Given the description of an element on the screen output the (x, y) to click on. 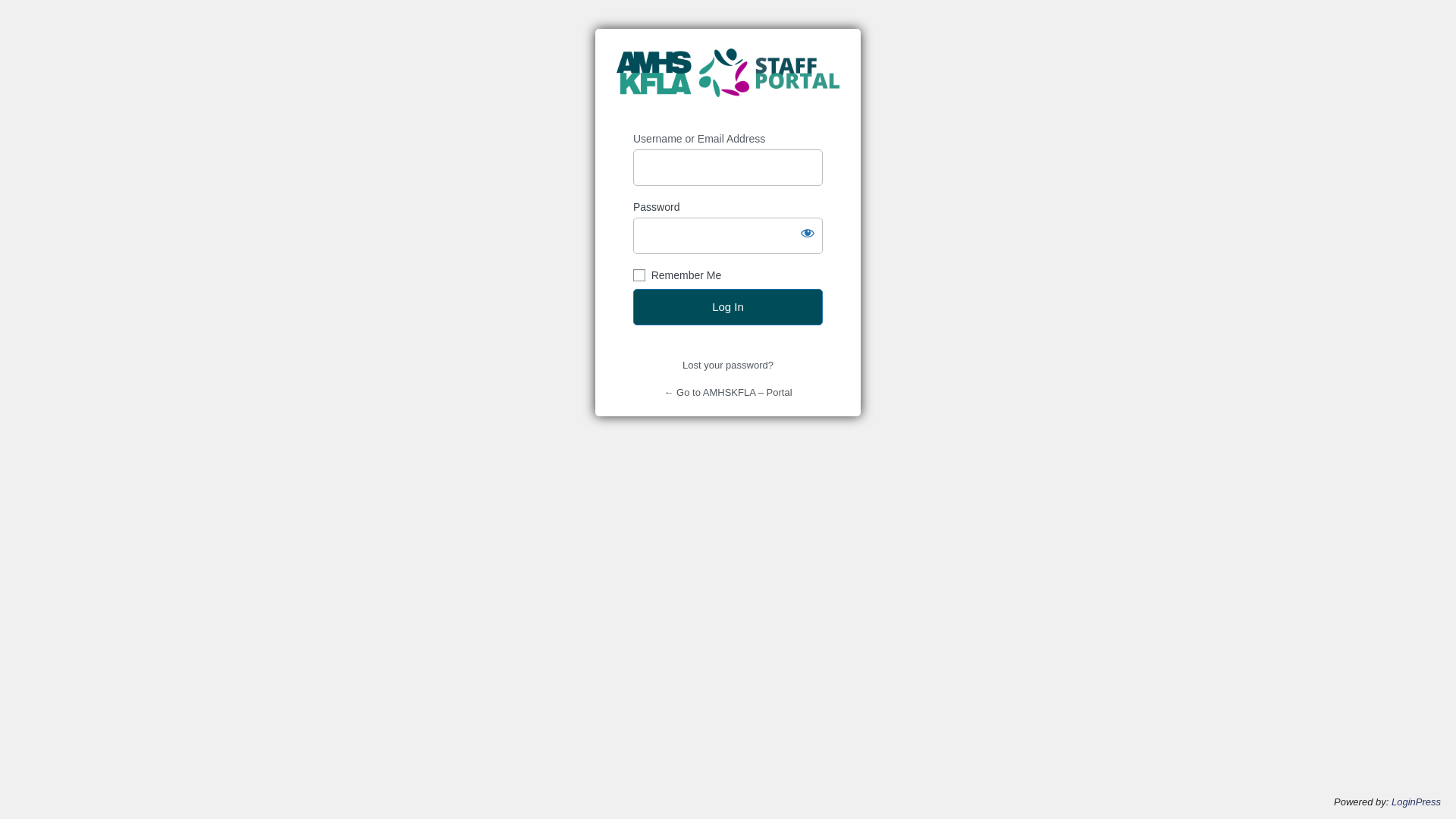
LoginPress Element type: text (1415, 801)
Lost your password? Element type: text (727, 364)
https://portal.amhs-kfla.ca Element type: text (727, 80)
Log In Element type: text (727, 306)
